Given the description of an element on the screen output the (x, y) to click on. 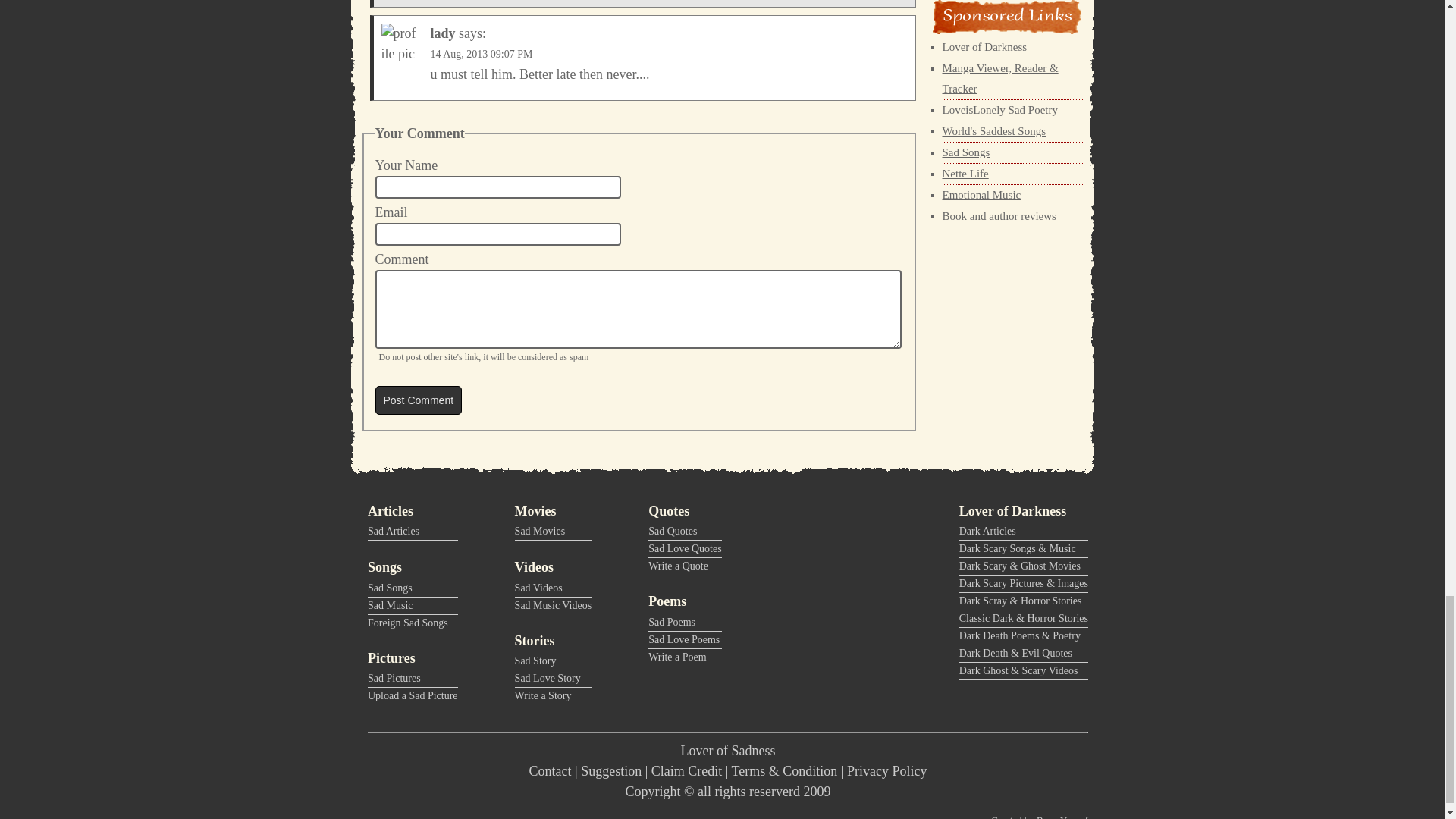
Post Comment (417, 399)
